Given the description of an element on the screen output the (x, y) to click on. 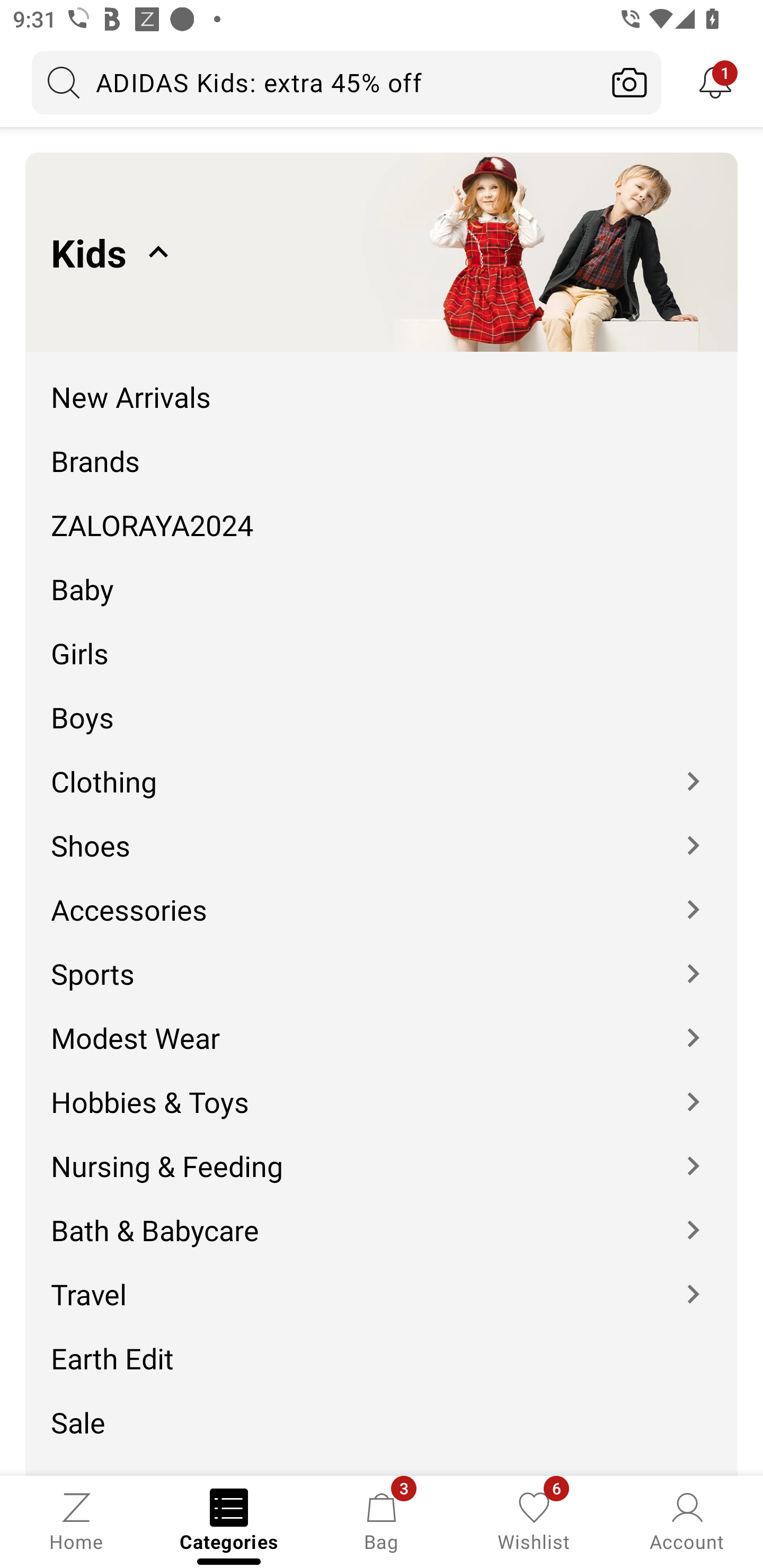
ADIDAS Kids: extra 45% off (314, 82)
Kids (381, 251)
New Arrivals (381, 383)
Brands (381, 447)
ZALORAYA2024 (381, 511)
Baby (381, 576)
Girls (381, 640)
Boys (381, 704)
Clothing (381, 767)
Shoes (381, 831)
Accessories (381, 895)
Sports (381, 960)
Modest Wear (381, 1024)
Hobbies & Toys (381, 1088)
Nursing & Feeding (381, 1153)
Bath & Babycare (381, 1217)
Travel (381, 1281)
Earth Edit (381, 1344)
Sale (381, 1408)
Home (76, 1519)
Bag, 3 new notifications Bag (381, 1519)
Wishlist, 6 new notifications Wishlist (533, 1519)
Account (686, 1519)
